Given the description of an element on the screen output the (x, y) to click on. 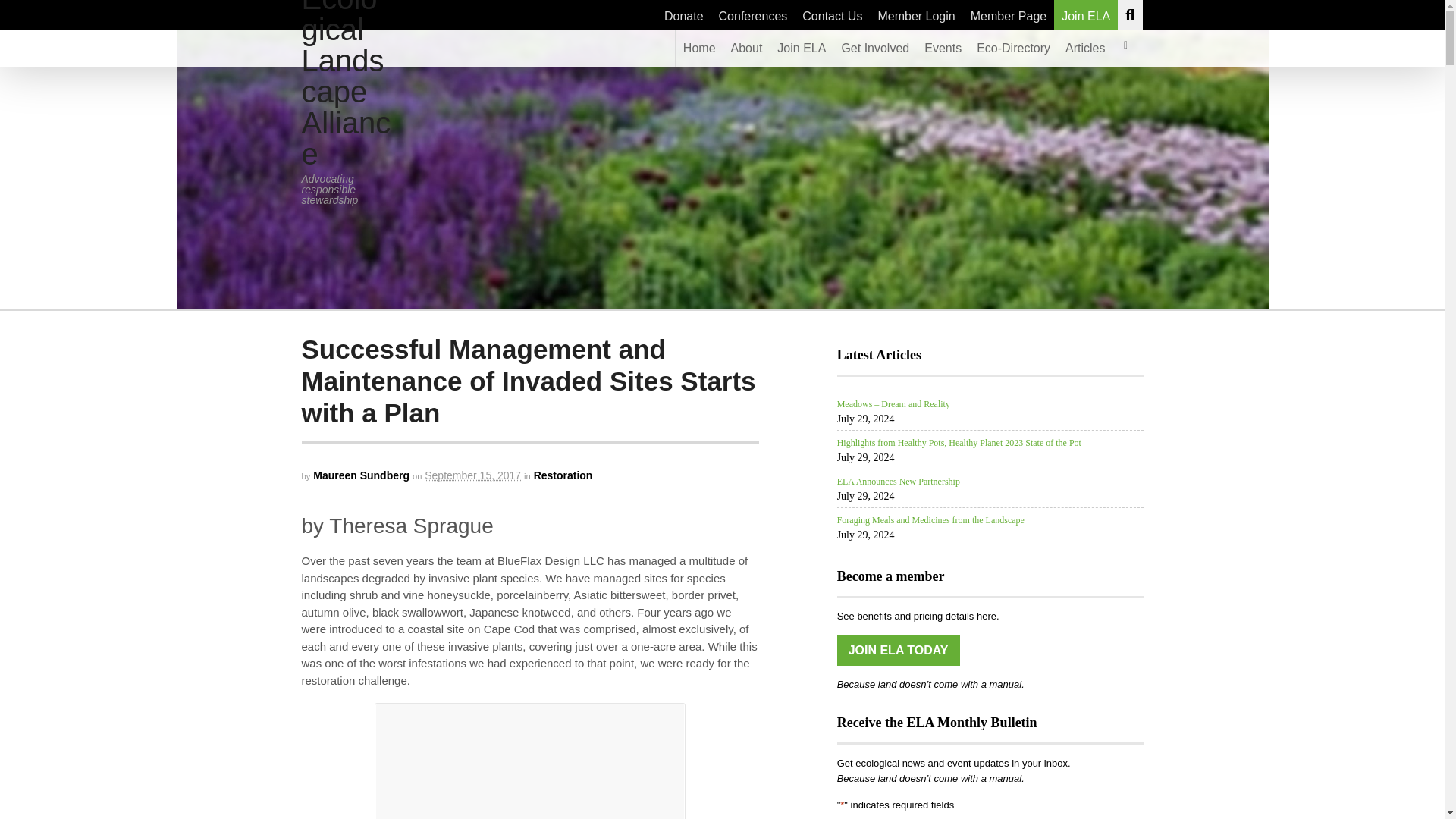
Member Page (1008, 15)
Home (699, 48)
Contact Us (831, 15)
Member Login (915, 15)
2017-09-15T10:32:09-0400 (473, 475)
Posts by Maureen Sundberg (361, 475)
View your shopping cart (1124, 48)
Get Involved (874, 48)
About (746, 48)
Events (943, 48)
